Given the description of an element on the screen output the (x, y) to click on. 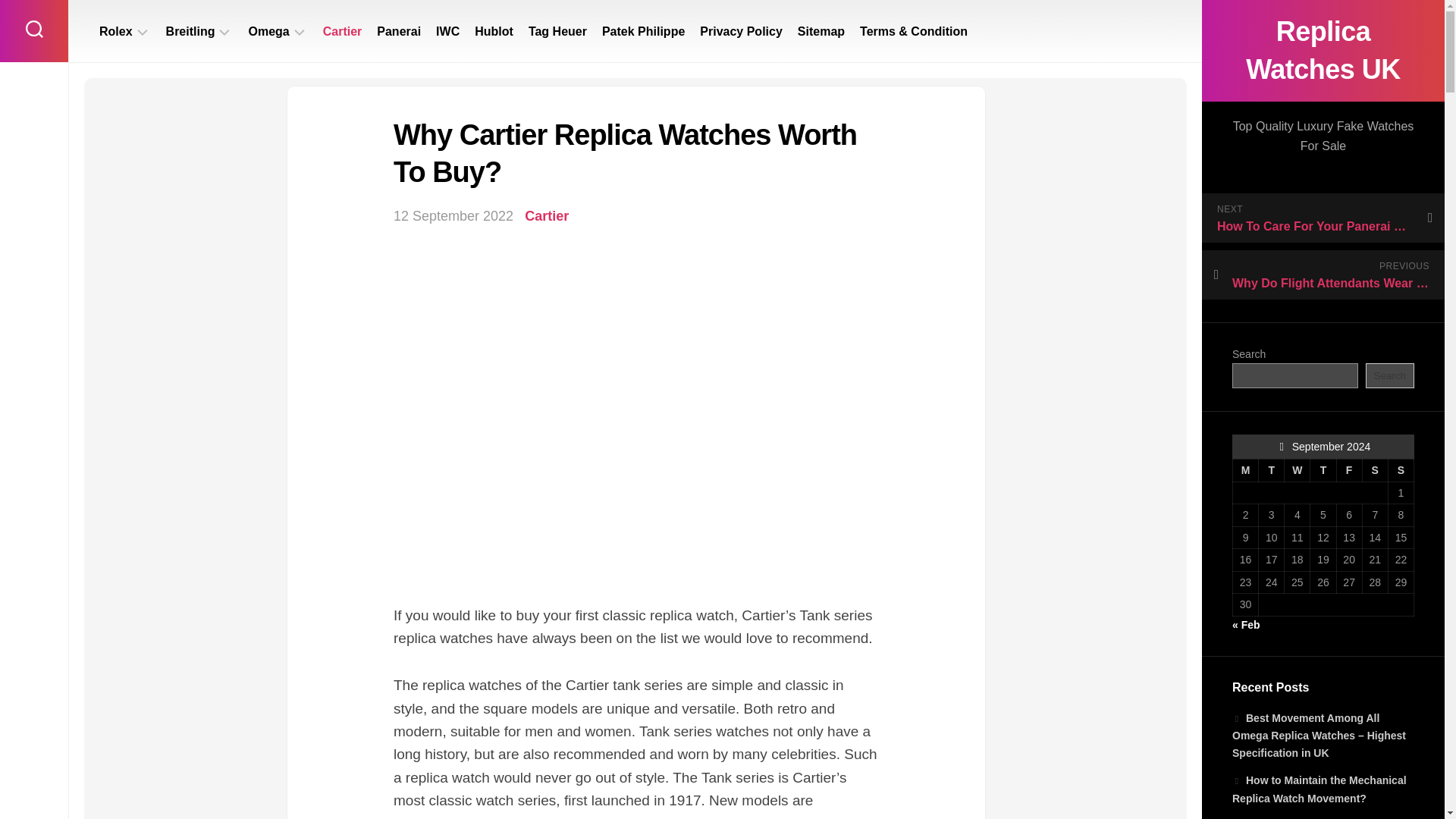
Saturday (1374, 470)
Replica Watches UK (1322, 50)
Tuesday (1271, 470)
Wednesday (1297, 470)
Friday (1348, 470)
Search (1389, 375)
Sunday (1400, 470)
Monday (1246, 470)
How to Maintain the Mechanical Replica Watch Movement? (1318, 788)
Thursday (1323, 470)
